Given the description of an element on the screen output the (x, y) to click on. 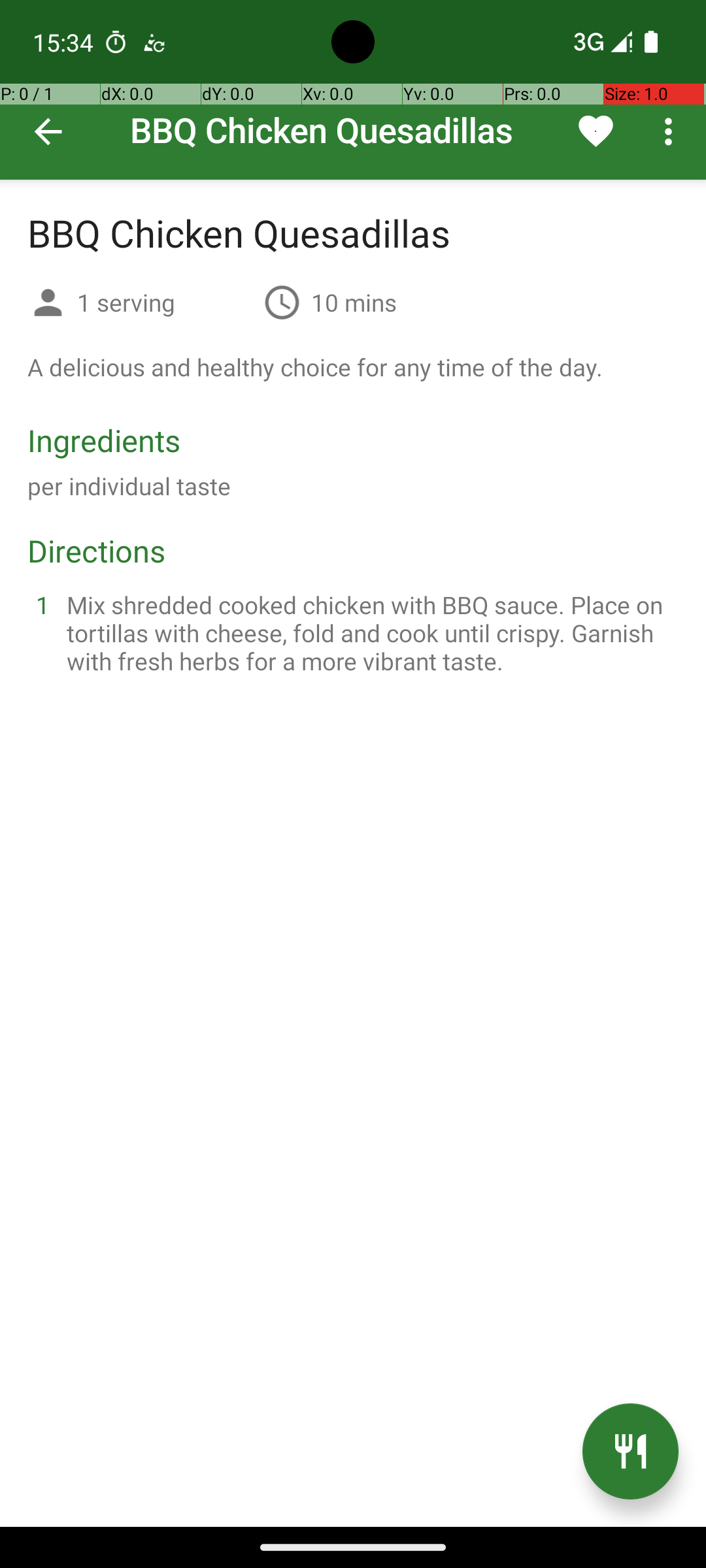
Mix shredded cooked chicken with BBQ sauce. Place on tortillas with cheese, fold and cook until crispy. Garnish with fresh herbs for a more vibrant taste. Element type: android.widget.TextView (368, 632)
